Given the description of an element on the screen output the (x, y) to click on. 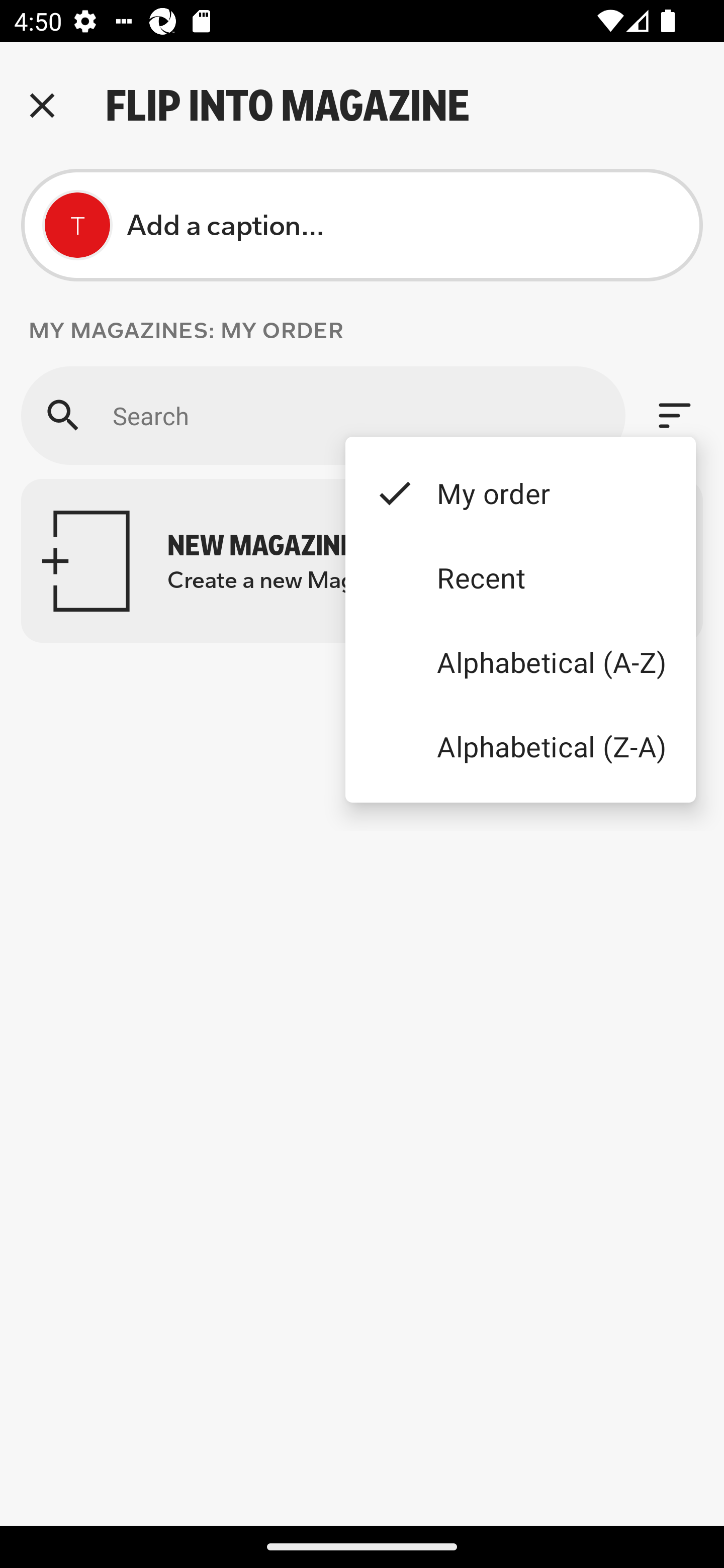
My order (520, 492)
Recent (520, 576)
Alphabetical (A-Z) (520, 661)
Alphabetical (Z-A) (520, 746)
